Given the description of an element on the screen output the (x, y) to click on. 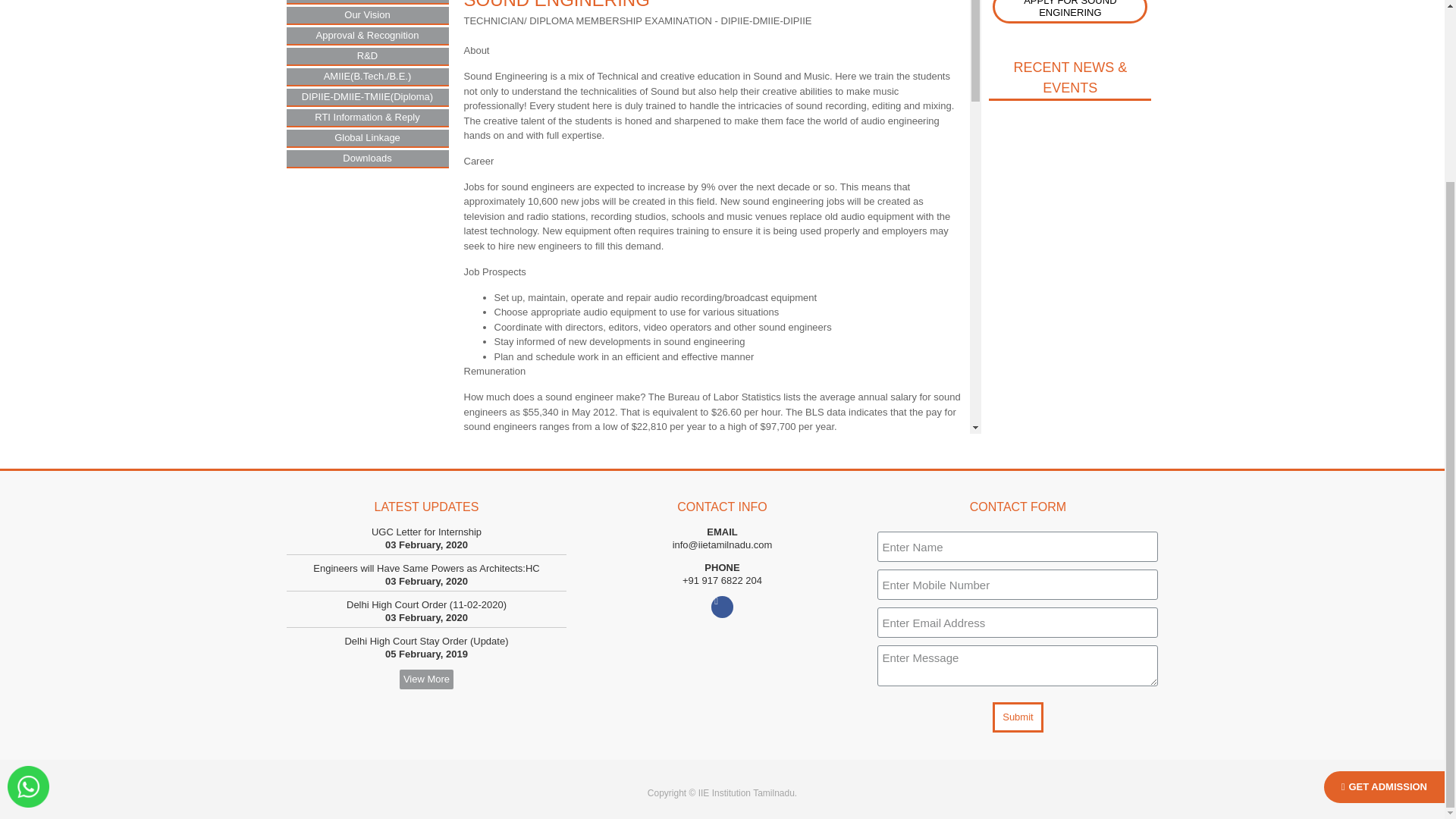
Download (885, 656)
Download (885, 681)
Home (367, 1)
Downloads (367, 158)
Download (885, 730)
Download (885, 803)
Download (885, 705)
Download (885, 778)
Global Linkage (367, 137)
Our Vision (367, 14)
Download (885, 754)
